Given the description of an element on the screen output the (x, y) to click on. 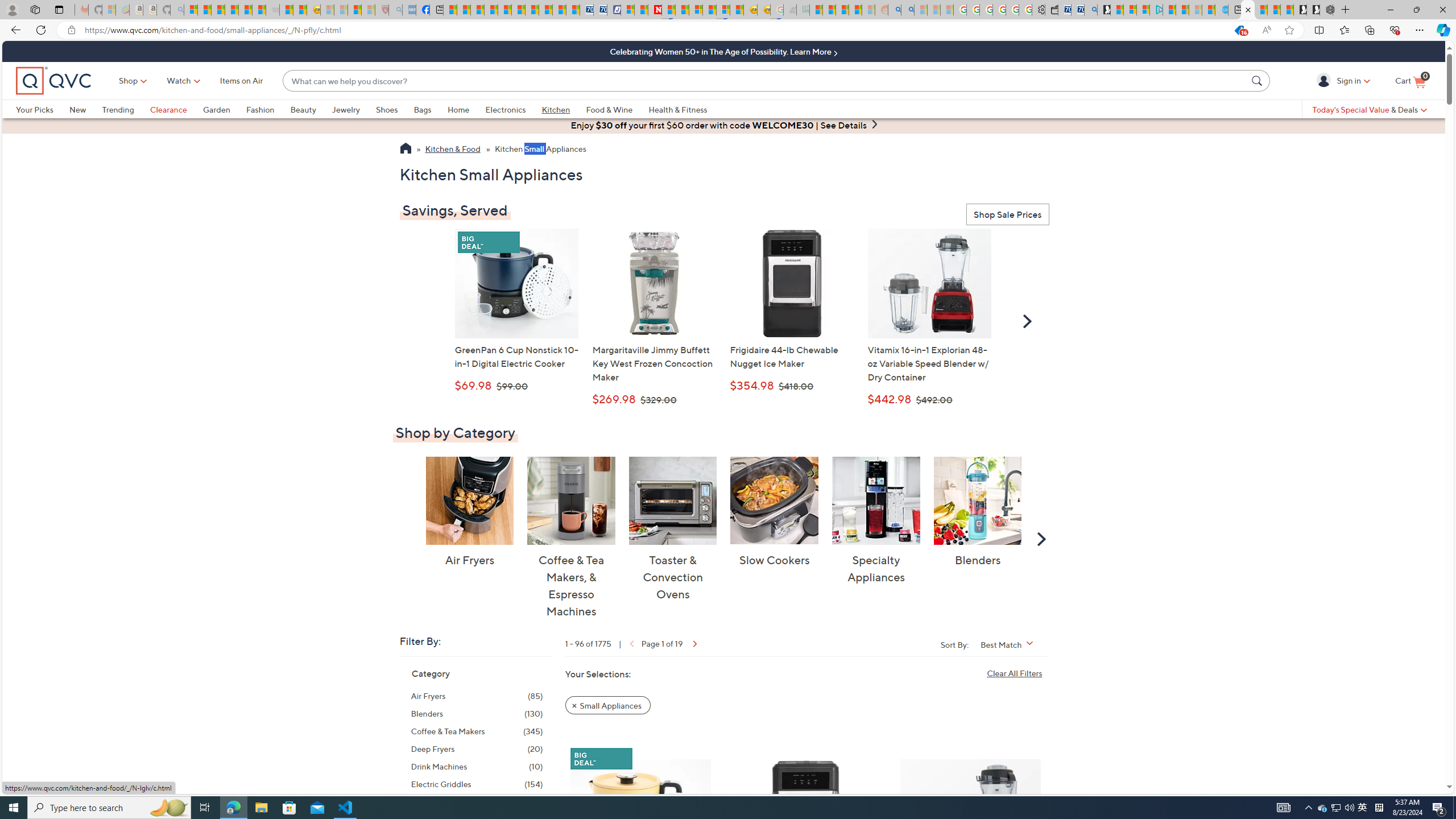
Slow Cookers (774, 500)
Today's Special Value & Deals (1369, 109)
New (84, 109)
Bags (421, 109)
Fashion (268, 109)
Health & Fitness (680, 109)
Shop Sale Prices (1007, 214)
Utah sues federal government - Search (907, 9)
Beauty (310, 109)
Deep Fryers, 20 items (476, 748)
